Given the description of an element on the screen output the (x, y) to click on. 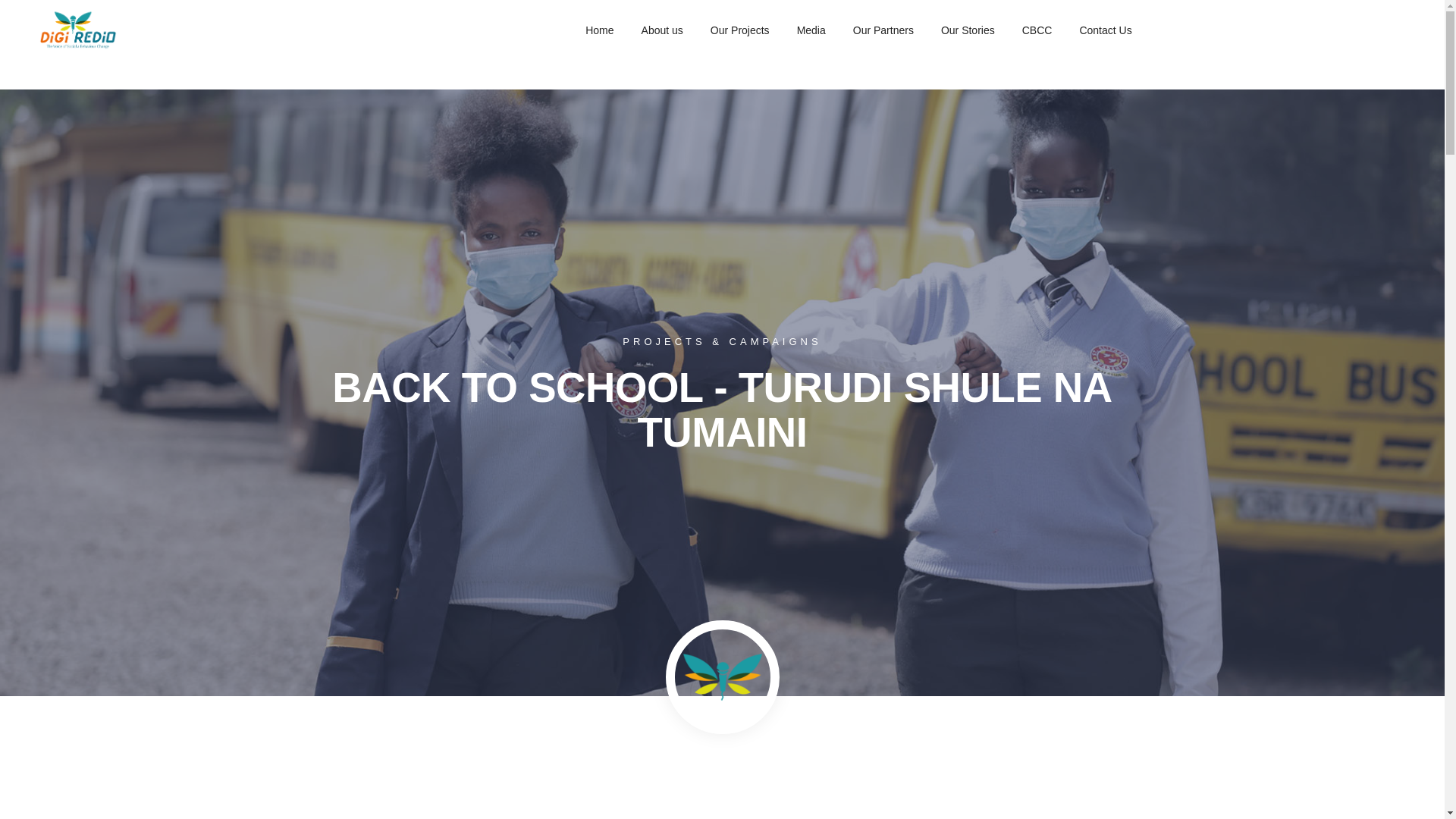
Our Projects (740, 30)
Our Partners (883, 30)
